Given the description of an element on the screen output the (x, y) to click on. 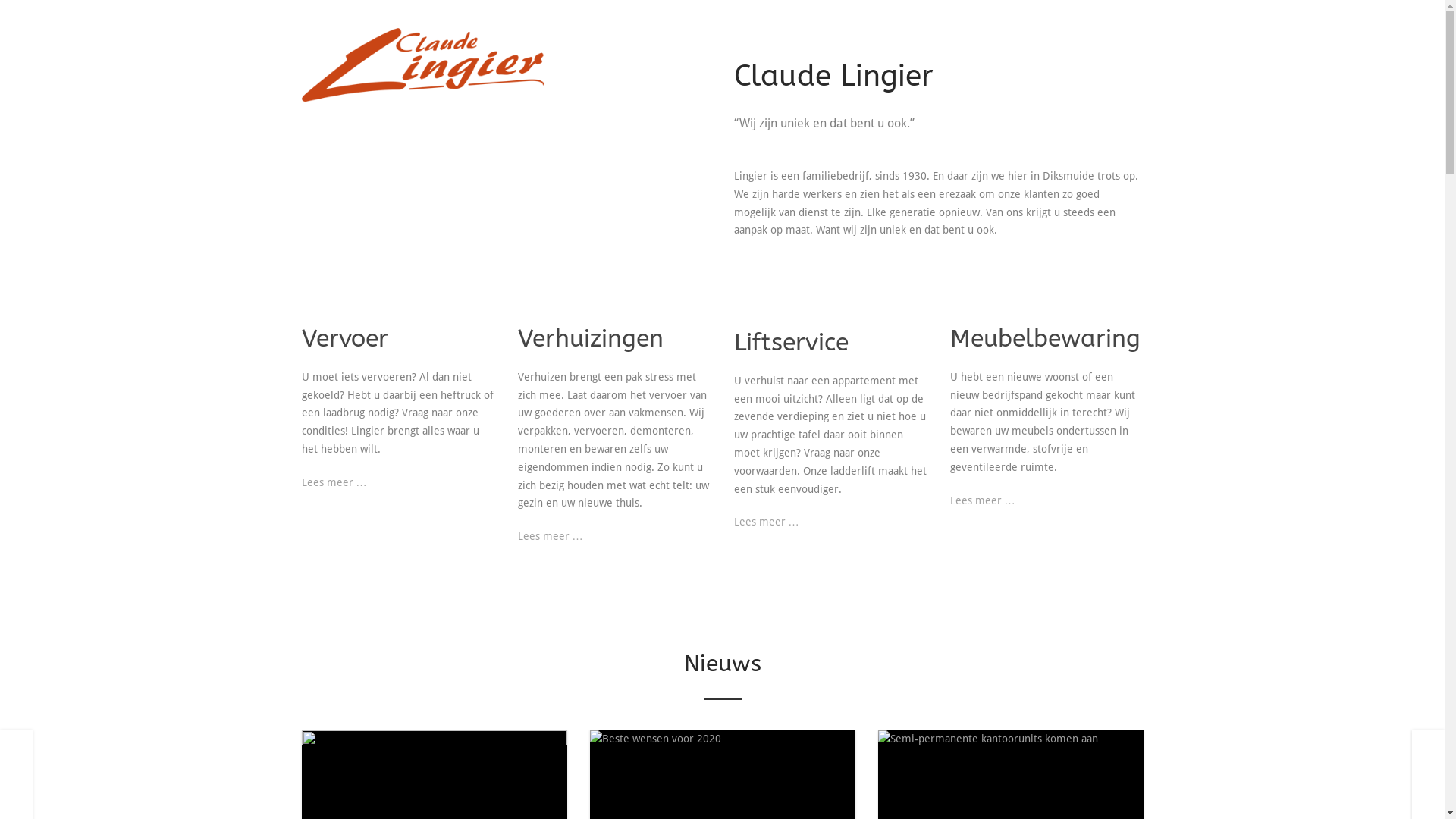
VERVOER Element type: text (792, 51)
LIFTSERVICE Element type: text (942, 51)
CONTACT Element type: text (1112, 51)
HOME Element type: text (749, 51)
MEUBELBEWARING Element type: text (1030, 51)
VERHUIZINGEN Element type: text (864, 51)
